Given the description of an element on the screen output the (x, y) to click on. 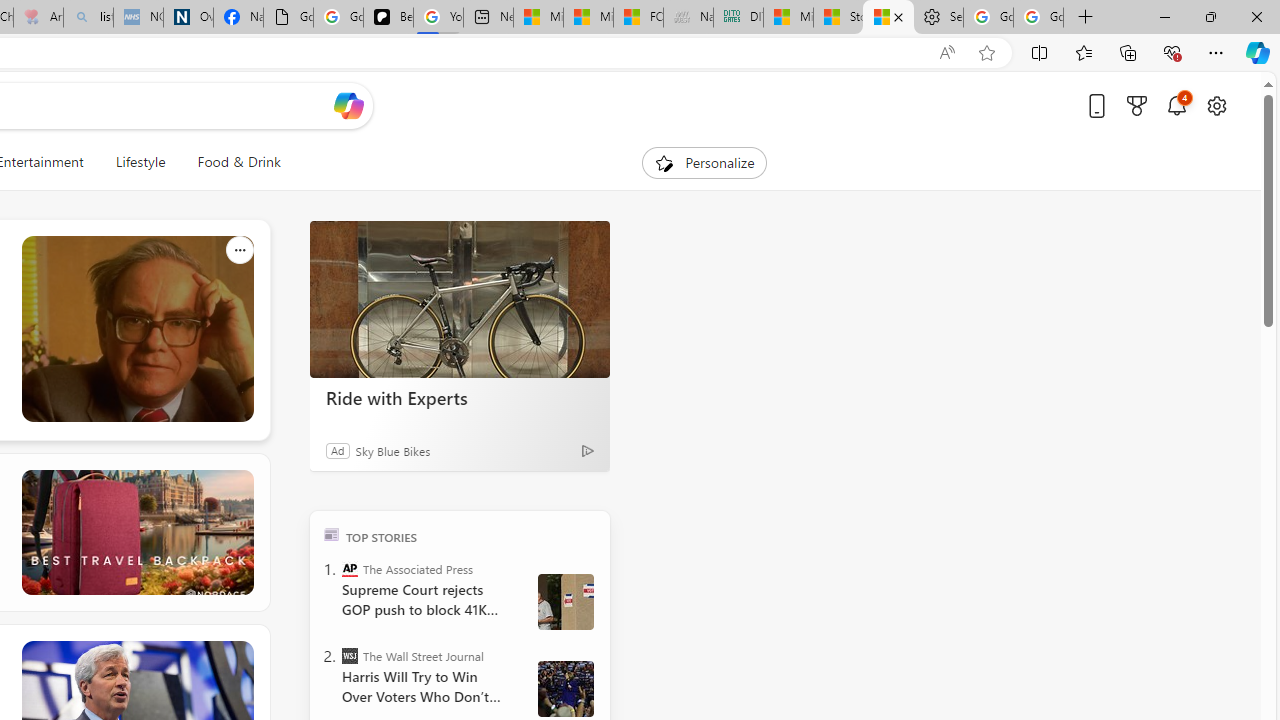
Ride with Experts (459, 299)
Be Smart | creating Science videos | Patreon (388, 17)
Food & Drink (230, 162)
Warren Buffett shares dead-simple investing lesson (136, 329)
list of asthma inhalers uk - Search - Sleeping (88, 17)
To get missing image descriptions, open the context menu. (664, 162)
FOX News - MSN (638, 17)
Notifications (1176, 105)
Arthritis: Ask Health Professionals - Sleeping (38, 17)
Food & Drink (239, 162)
Ride with Experts (459, 397)
